Given the description of an element on the screen output the (x, y) to click on. 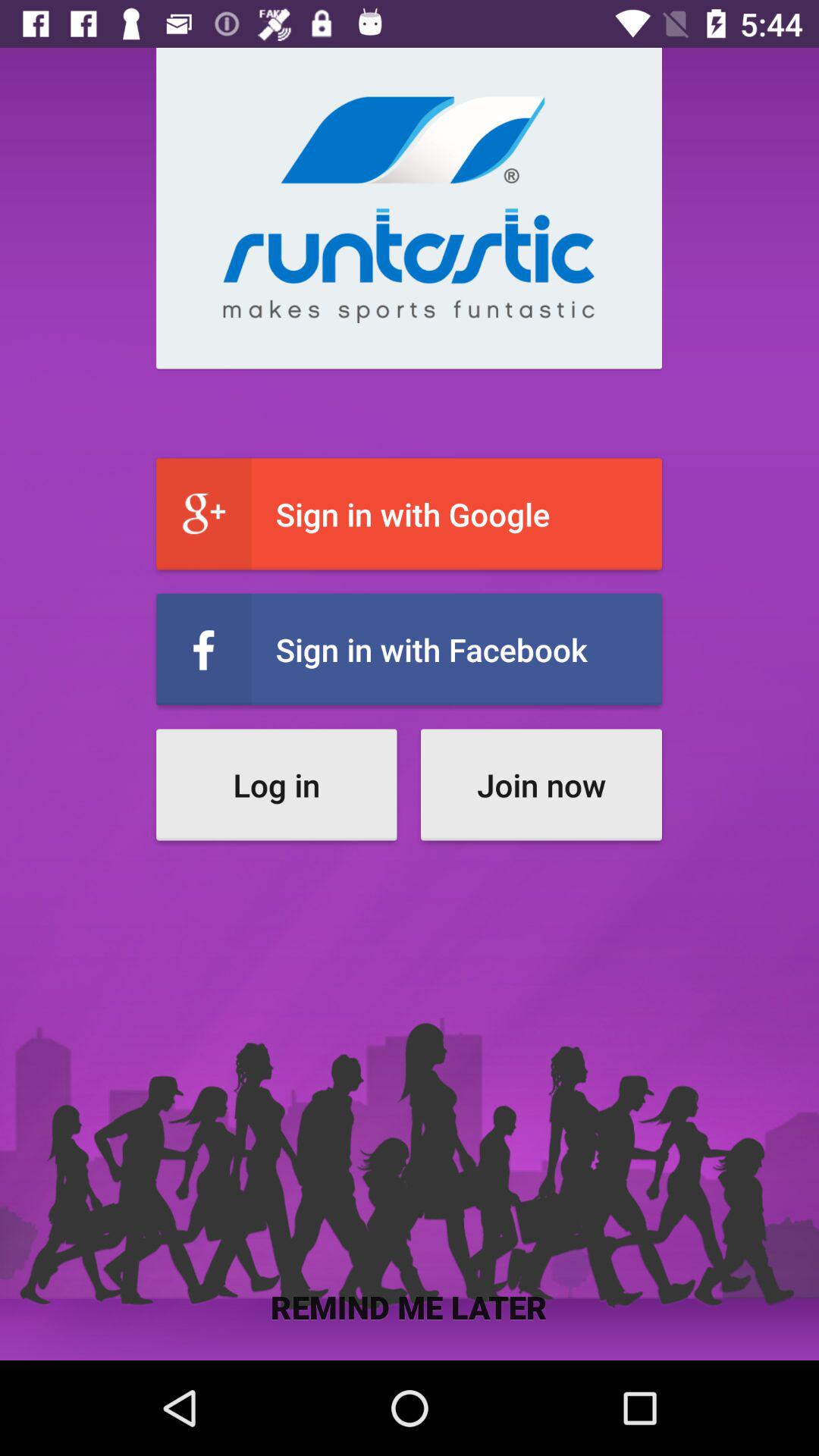
select the item to the right of log in (541, 784)
